Given the description of an element on the screen output the (x, y) to click on. 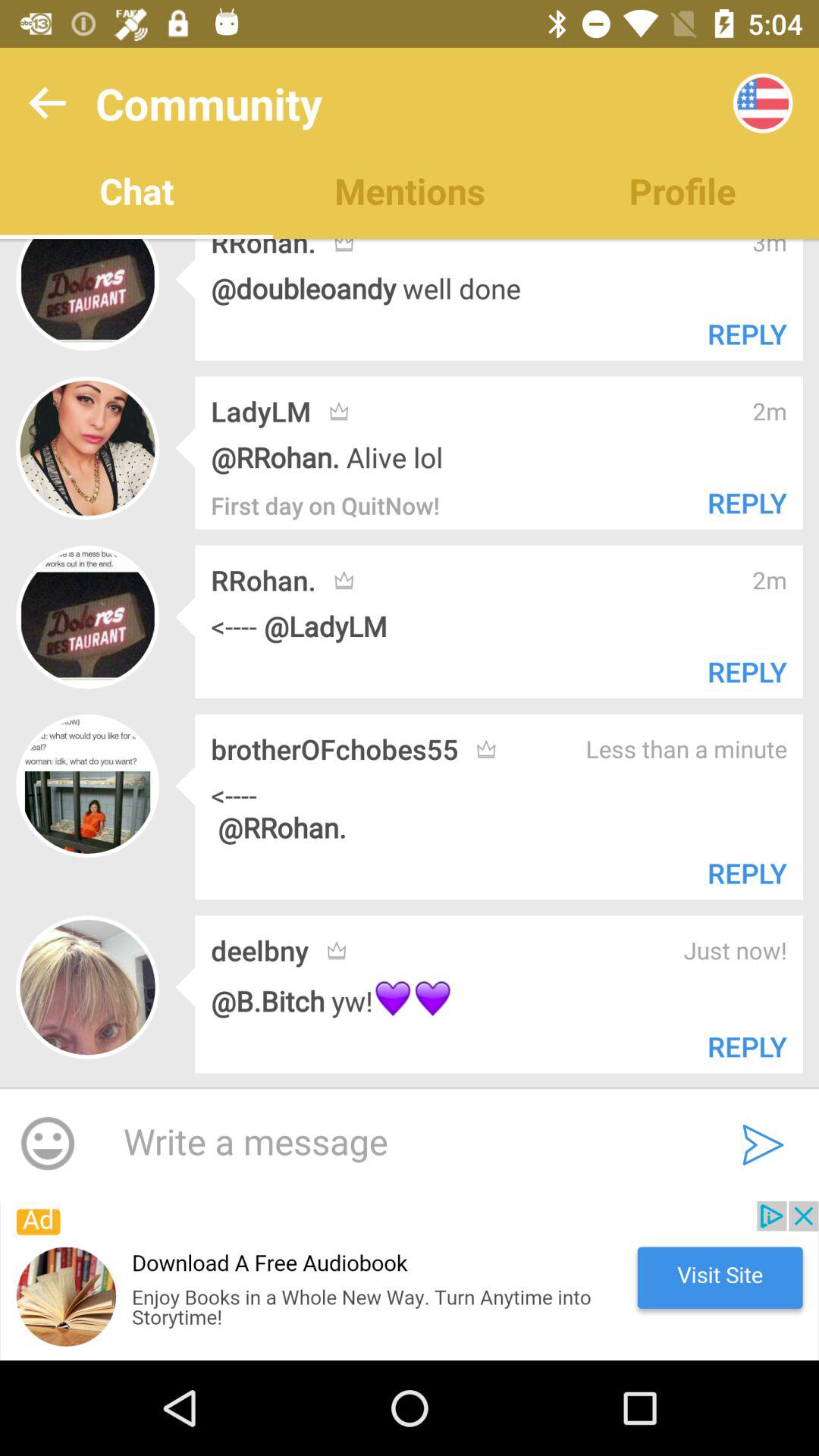
open advertisement (409, 1280)
